Given the description of an element on the screen output the (x, y) to click on. 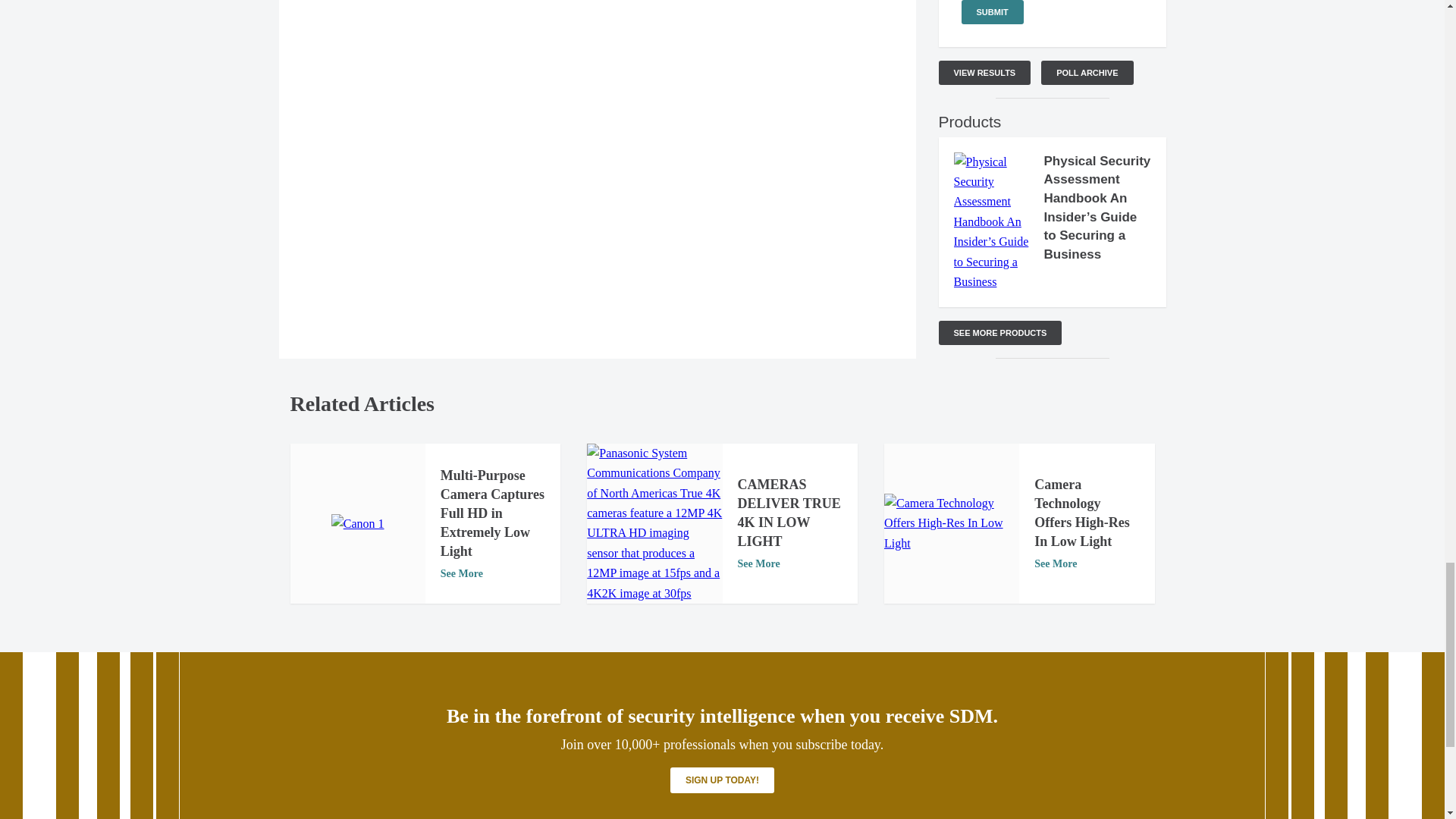
Camera Technology Offers High-Res In Low Light  (951, 523)
Submit (991, 12)
Canon 1 (357, 523)
